Given the description of an element on the screen output the (x, y) to click on. 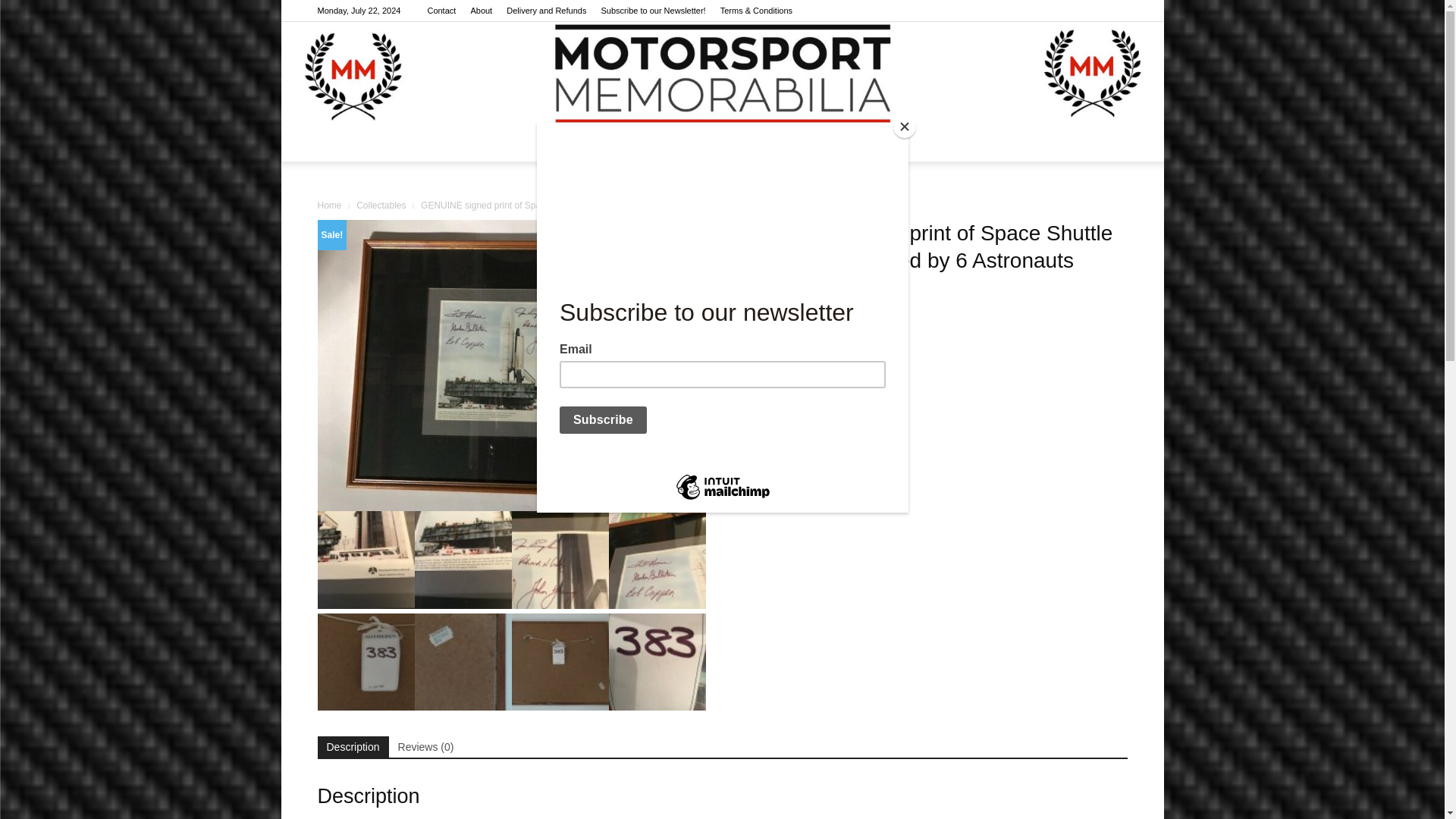
s-l1600.jpg (511, 365)
Contact (440, 10)
Facebook (1040, 10)
s-l16001.jpg (463, 559)
s-l16002.jpg (365, 559)
Delivery and Refunds (546, 10)
s-l16003.jpg (657, 559)
Linkedin (1065, 10)
s-l16004.jpg (560, 559)
Pinterest (1090, 10)
About (481, 10)
Subscribe to our Newsletter! (651, 10)
Motorsport Memorabilia (722, 73)
Twitter (1114, 10)
